Given the description of an element on the screen output the (x, y) to click on. 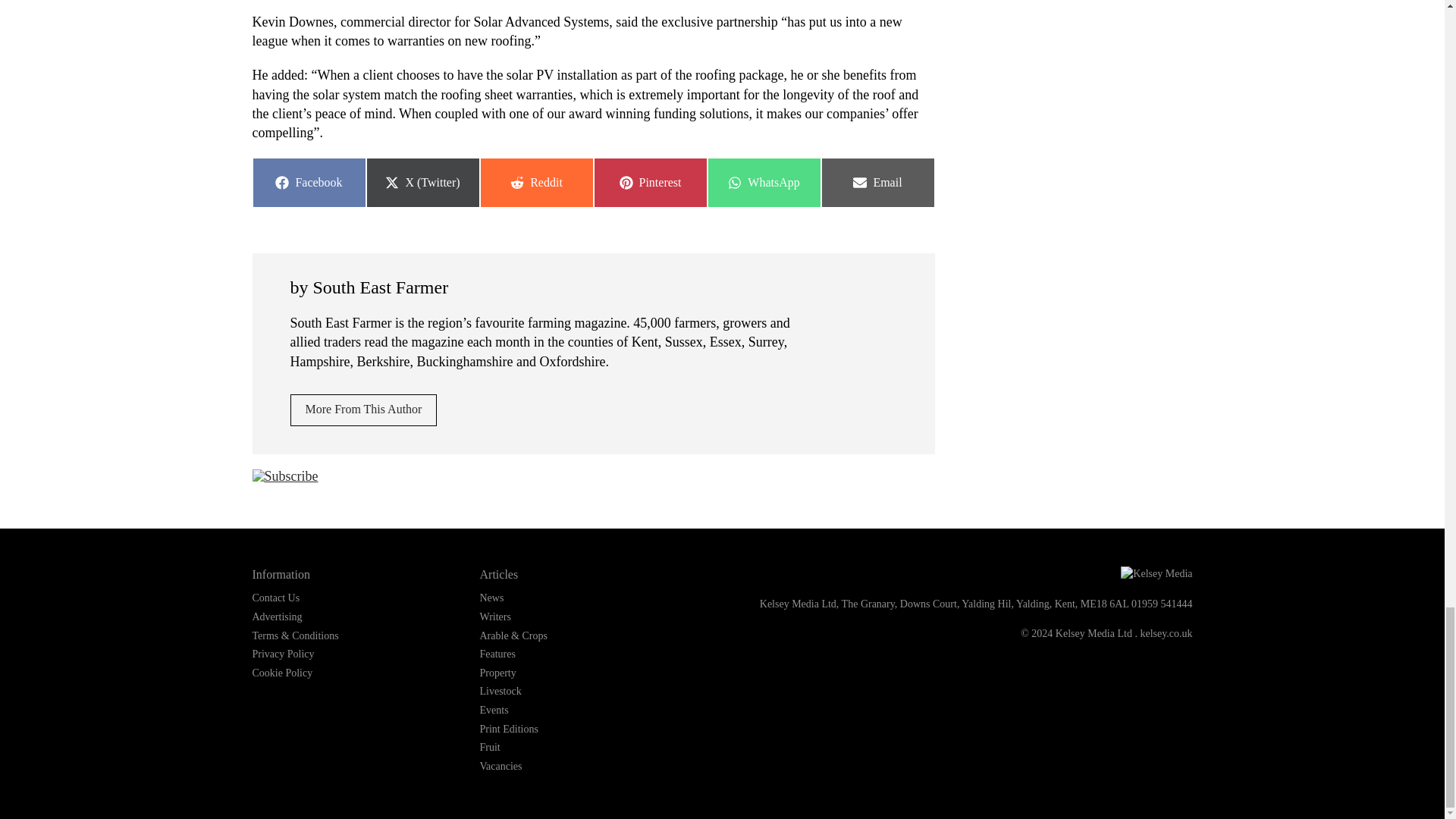
Contact Us (877, 183)
Advertising (308, 183)
More From This Author (763, 183)
